Given the description of an element on the screen output the (x, y) to click on. 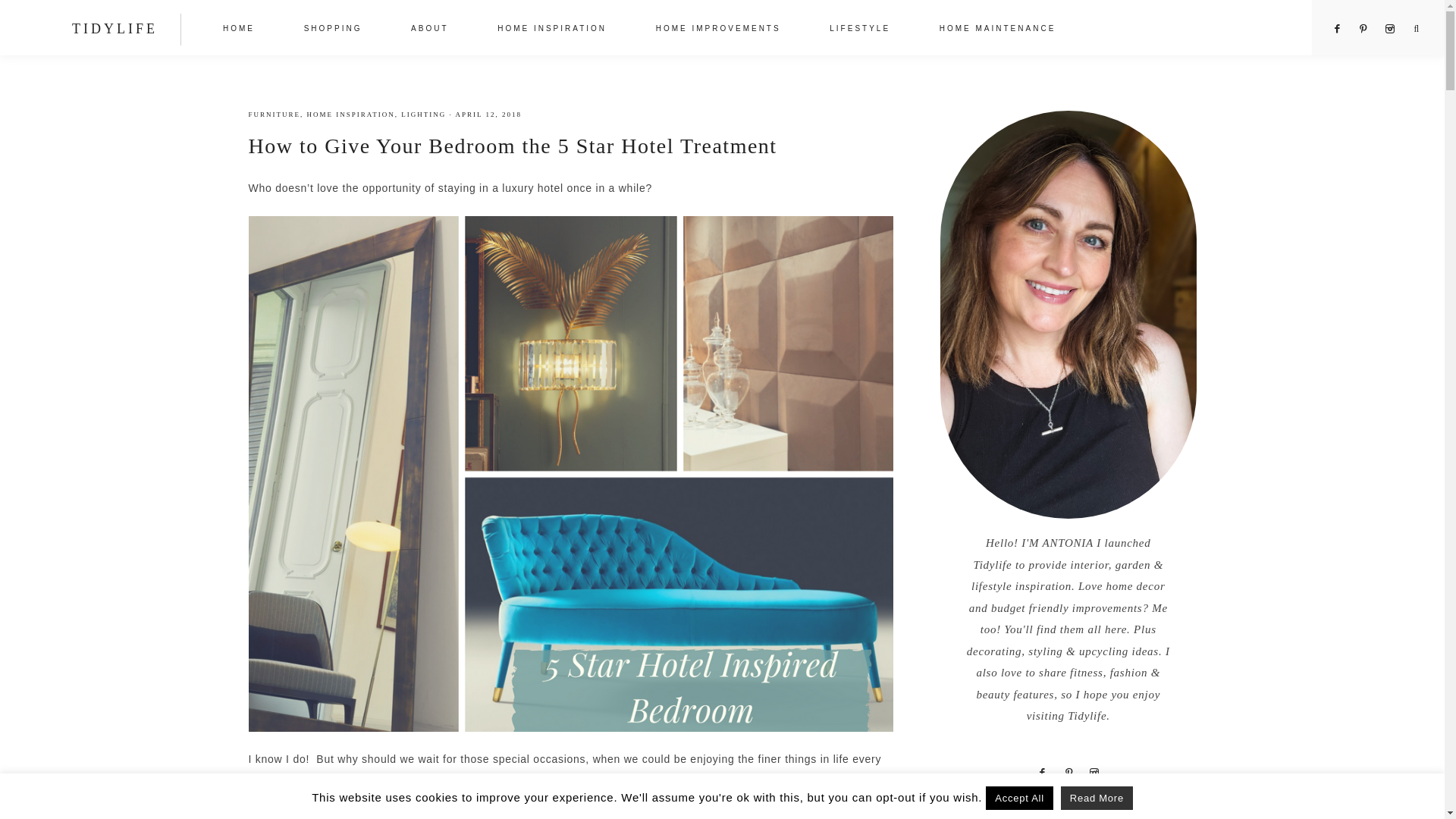
Facebook (1042, 771)
Instagram (1389, 29)
Pinterest (1069, 771)
HOME IMPROVEMENTS (718, 29)
Pinterest (1364, 29)
HOME INSPIRATION (551, 29)
ABOUT (429, 29)
SHOPPING (333, 29)
HOME (239, 29)
HOME MAINTENANCE (997, 29)
